Given the description of an element on the screen output the (x, y) to click on. 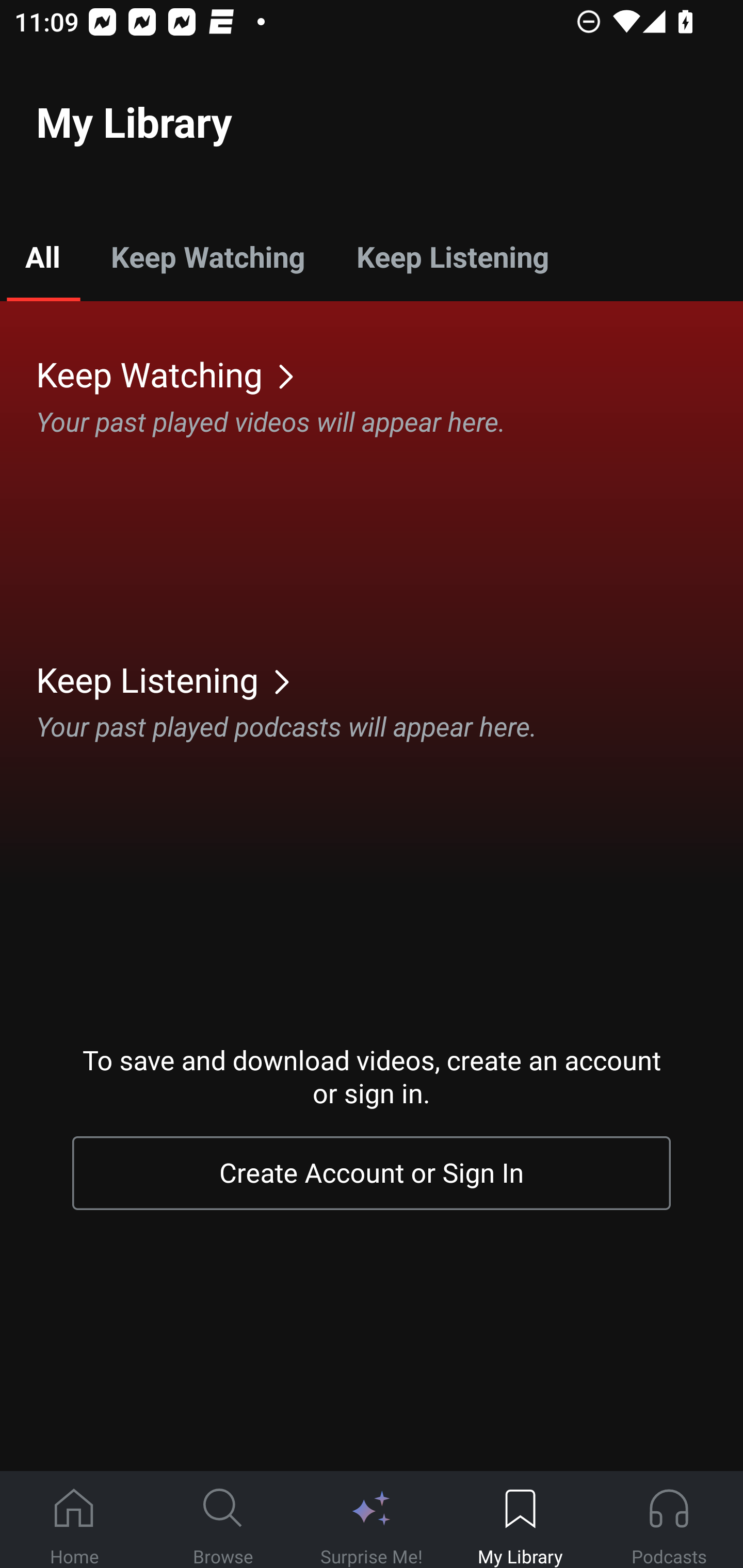
All (42, 256)
Keep Watching (207, 256)
Keep Listening (452, 256)
Keep Watching (389, 373)
Keep Listening (389, 679)
Create Account or Sign In (371, 1173)
Home (74, 1520)
Browse (222, 1520)
Surprise Me! (371, 1520)
My Library (519, 1520)
Podcasts (668, 1520)
